Given the description of an element on the screen output the (x, y) to click on. 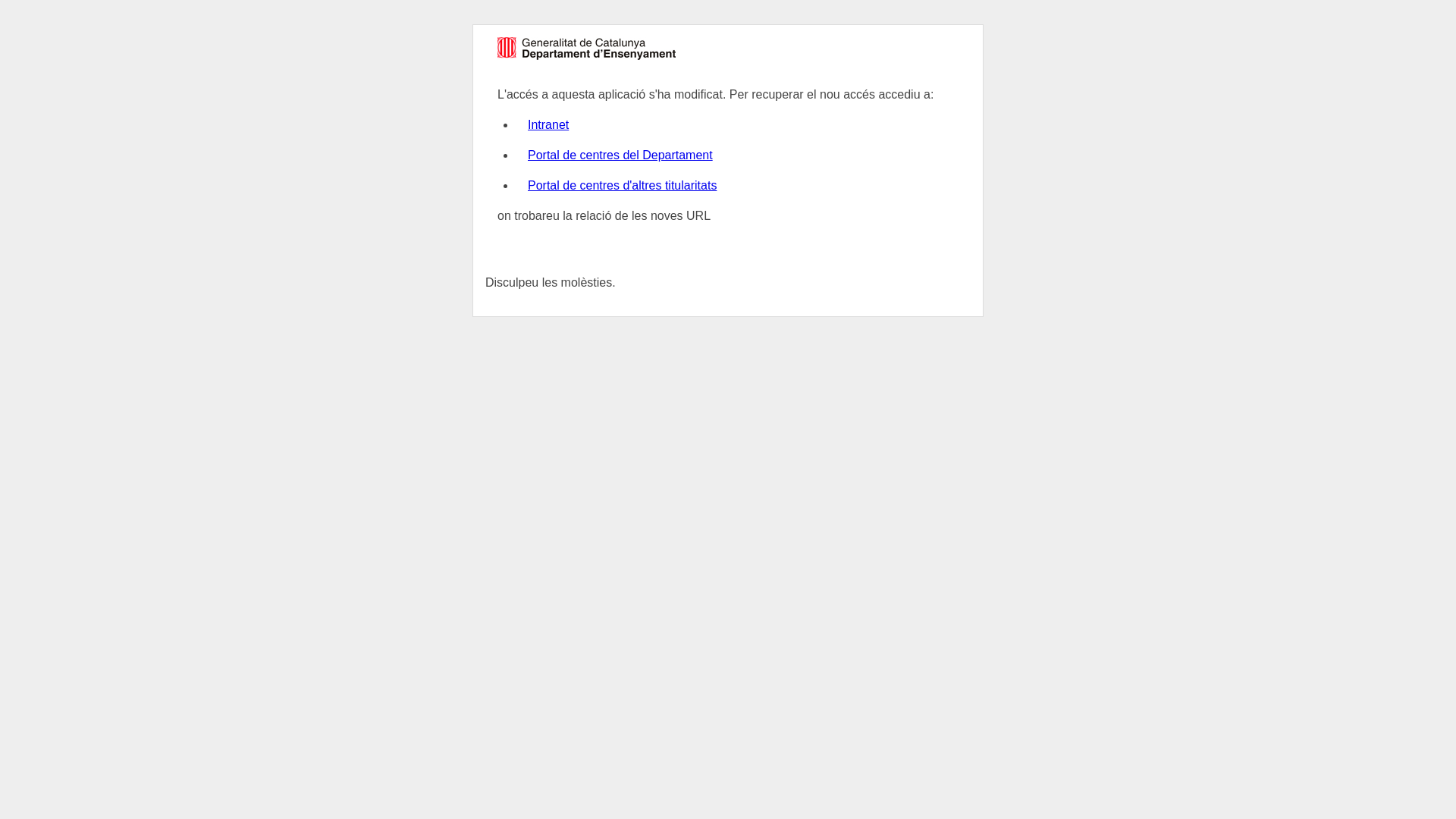
Portal de centres d'altres titularitats Element type: text (621, 184)
Intranet Element type: text (547, 124)
Portal de centres del Departament Element type: text (619, 154)
